Given the description of an element on the screen output the (x, y) to click on. 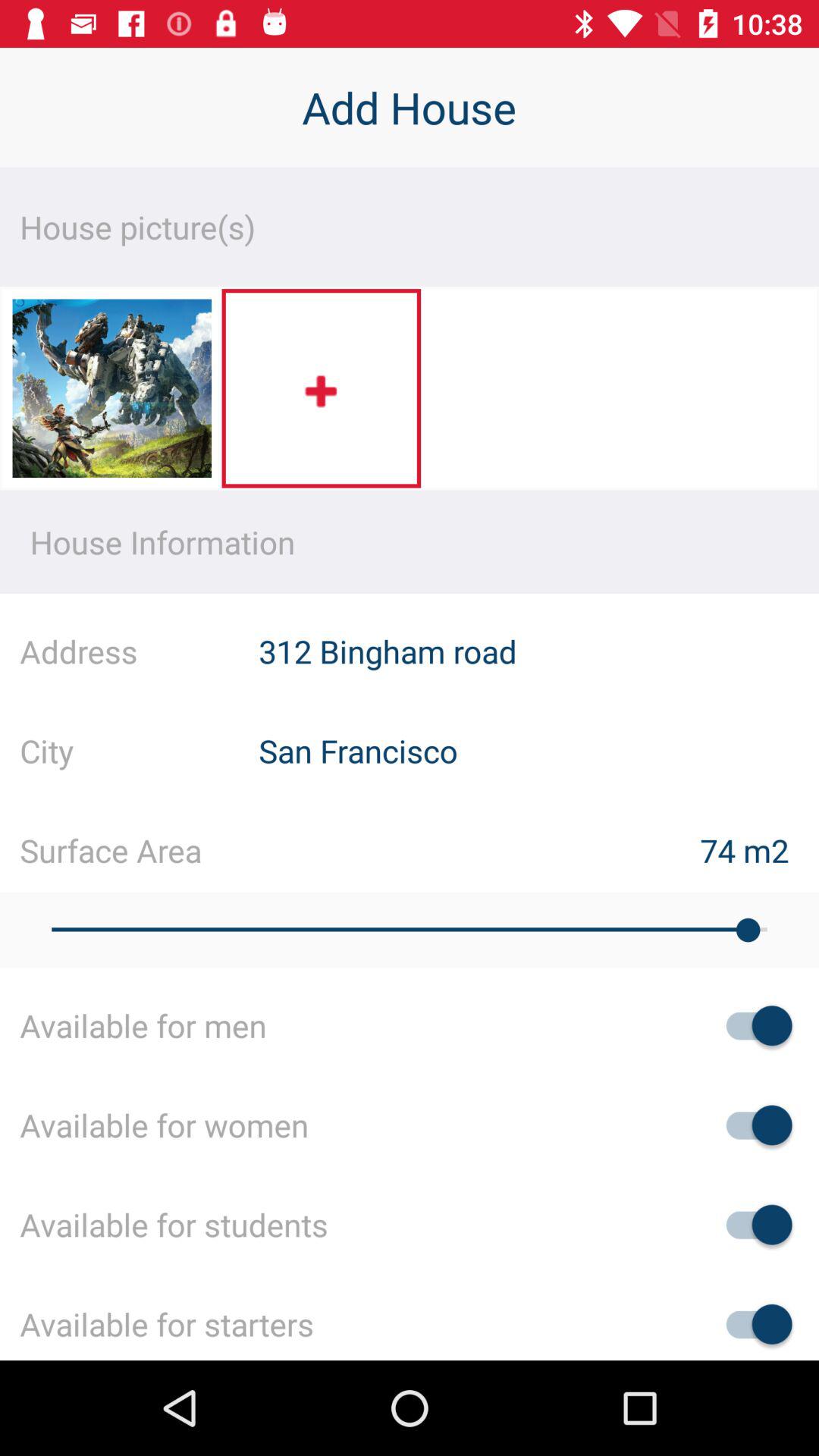
option toggle switch (751, 1324)
